Given the description of an element on the screen output the (x, y) to click on. 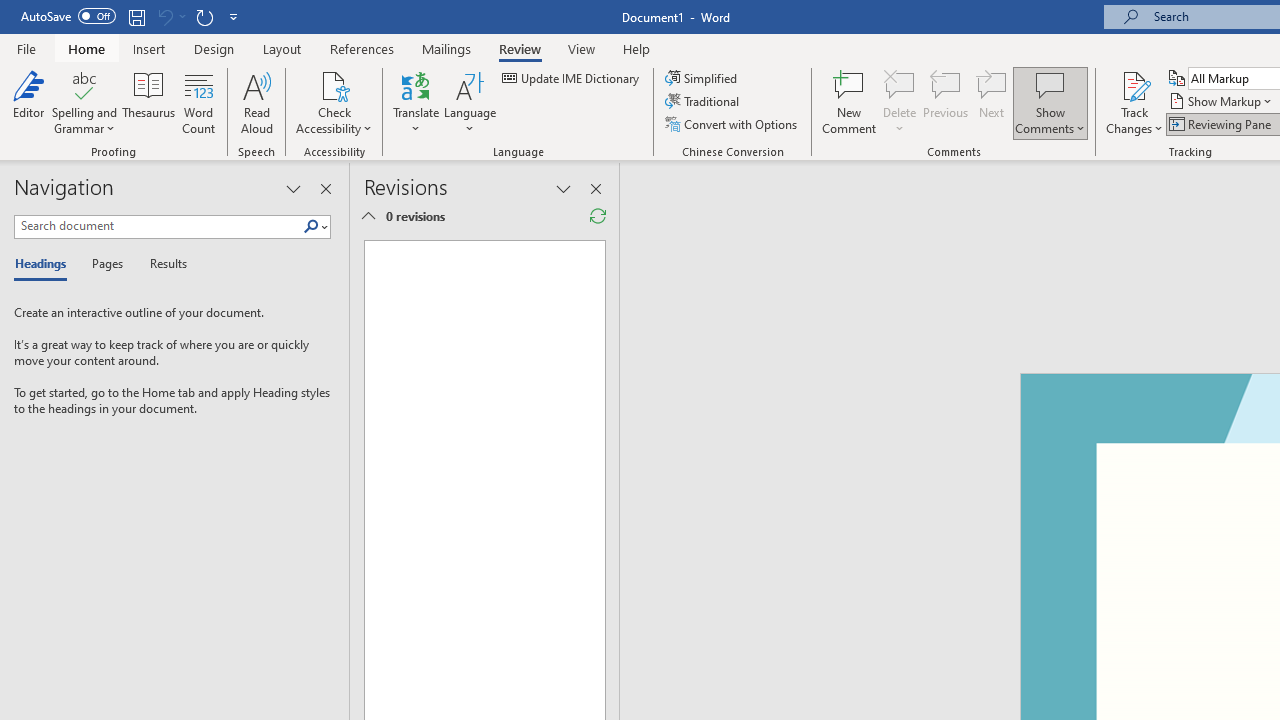
Reviewing Pane (1221, 124)
Show Comments (1050, 102)
Repeat Doc Close (204, 15)
Thesaurus... (148, 102)
Pages (105, 264)
Check Accessibility (334, 102)
New Comment (849, 102)
Results (161, 264)
Spelling and Grammar (84, 102)
